Given the description of an element on the screen output the (x, y) to click on. 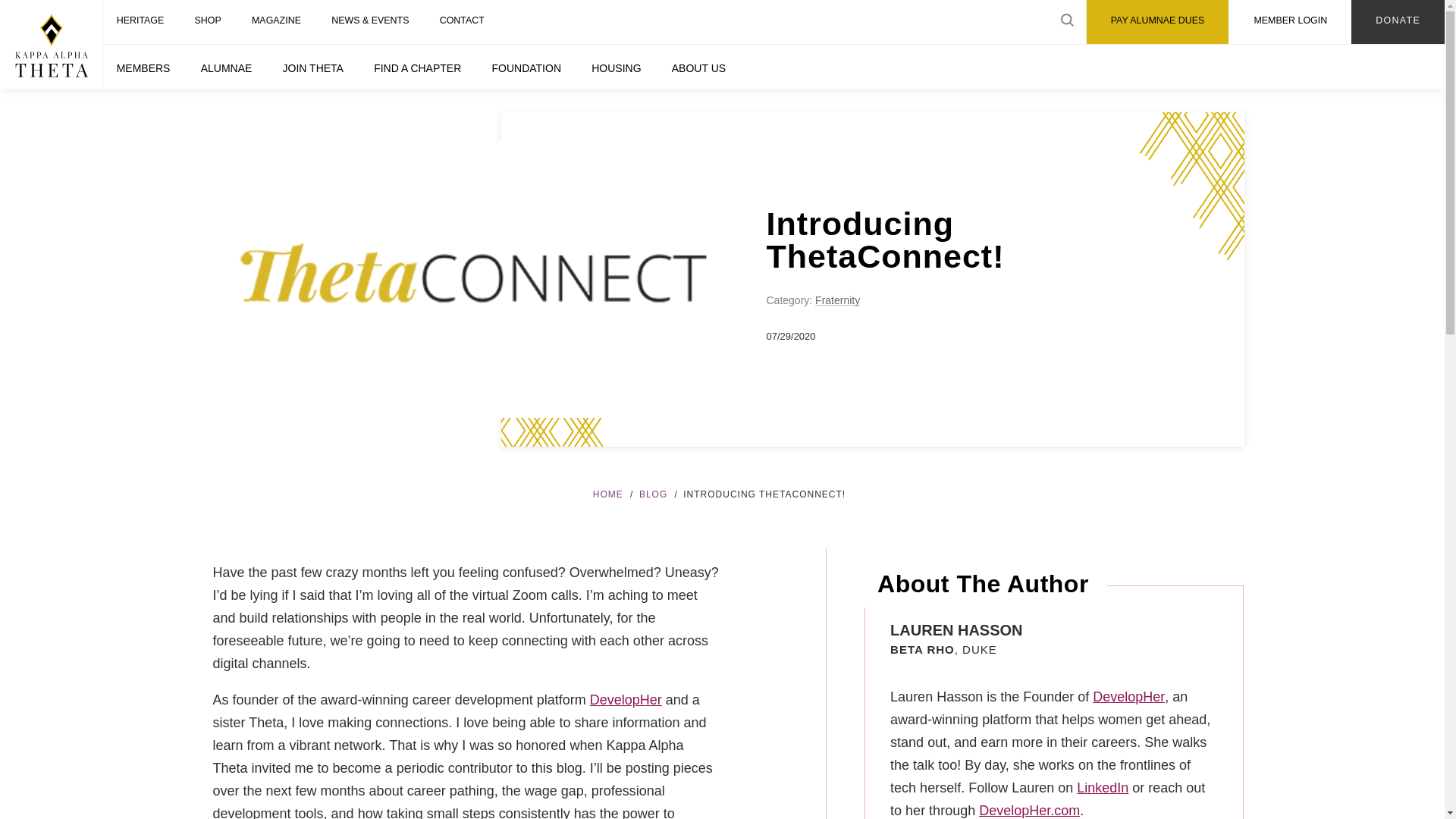
Join Theta (312, 67)
JOIN THETA (312, 67)
PAY ALUMNAE DUES (1157, 22)
CONTACT (462, 22)
HERITAGE (140, 22)
FOUNDATION (526, 67)
Heritage (140, 22)
MEMBER LOGIN (1289, 22)
FIND A CHAPTER (417, 67)
Magazine (275, 22)
HOUSING (617, 67)
Member Login (1289, 22)
SHOP (207, 22)
Pay Alumnae Dues (1157, 22)
MAGAZINE (275, 22)
